Given the description of an element on the screen output the (x, y) to click on. 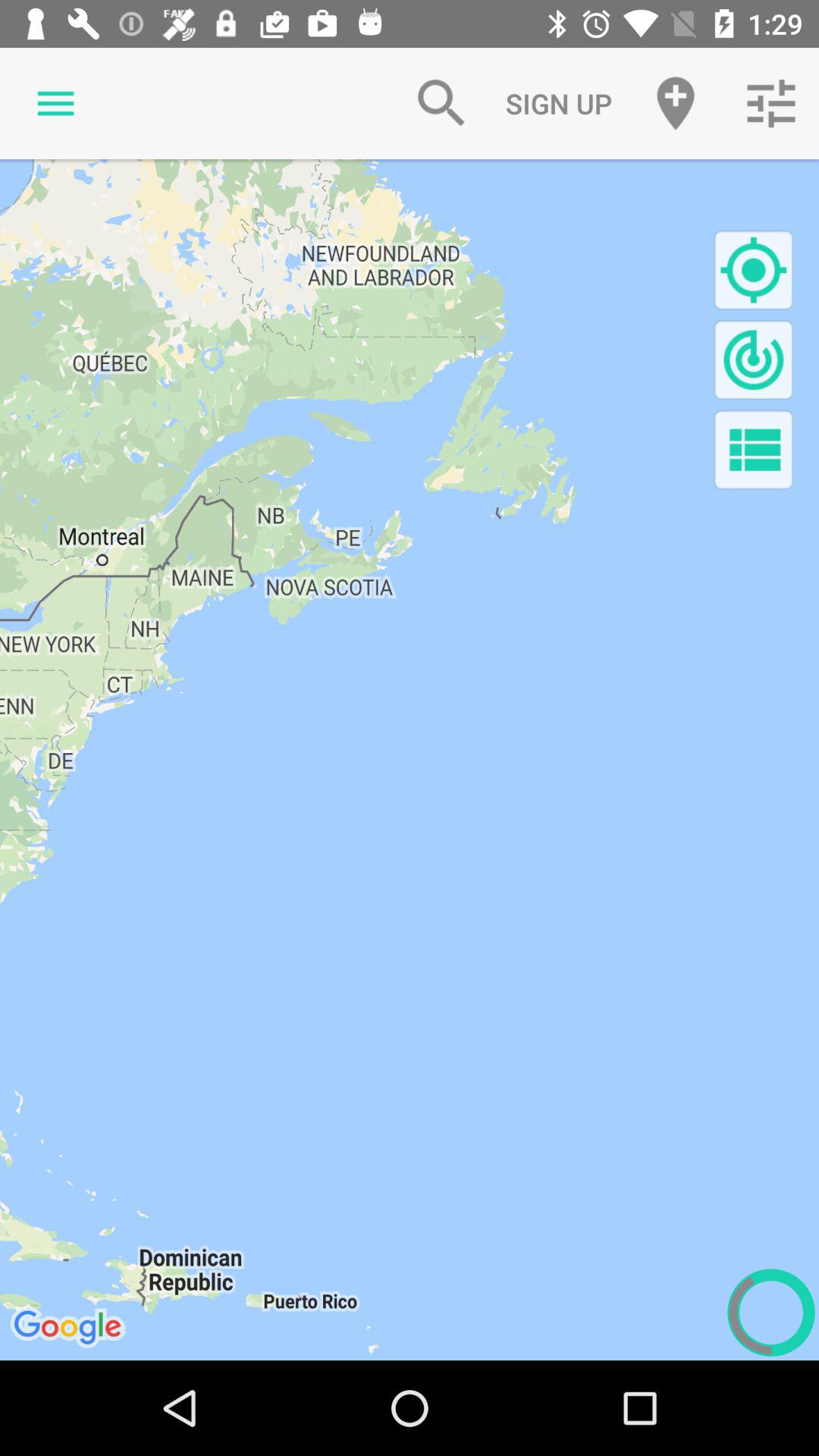
open sign up (558, 103)
